Given the description of an element on the screen output the (x, y) to click on. 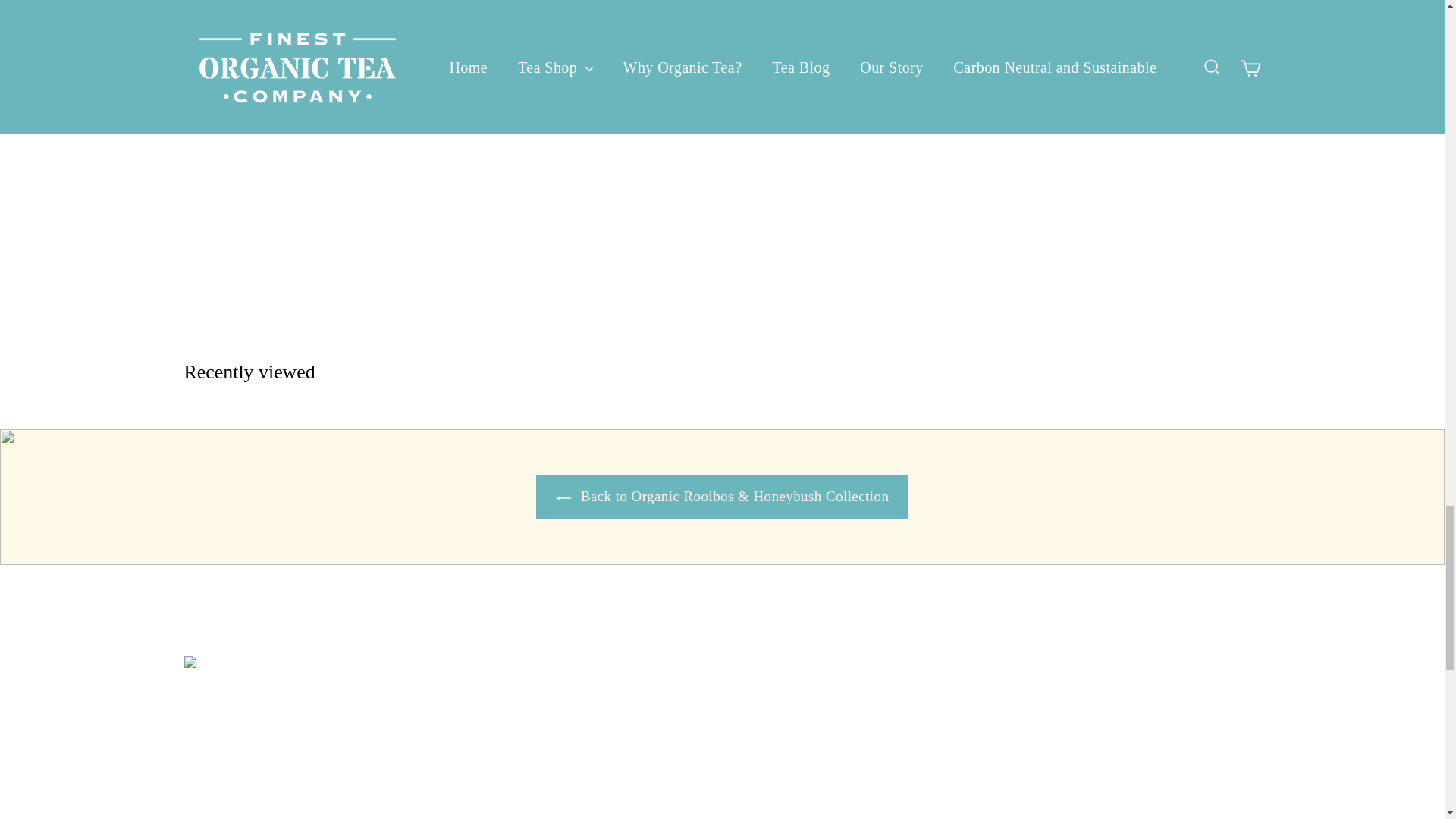
icon-left-arrow (563, 498)
Finest Organic Tea Company  (389, 23)
